Given the description of an element on the screen output the (x, y) to click on. 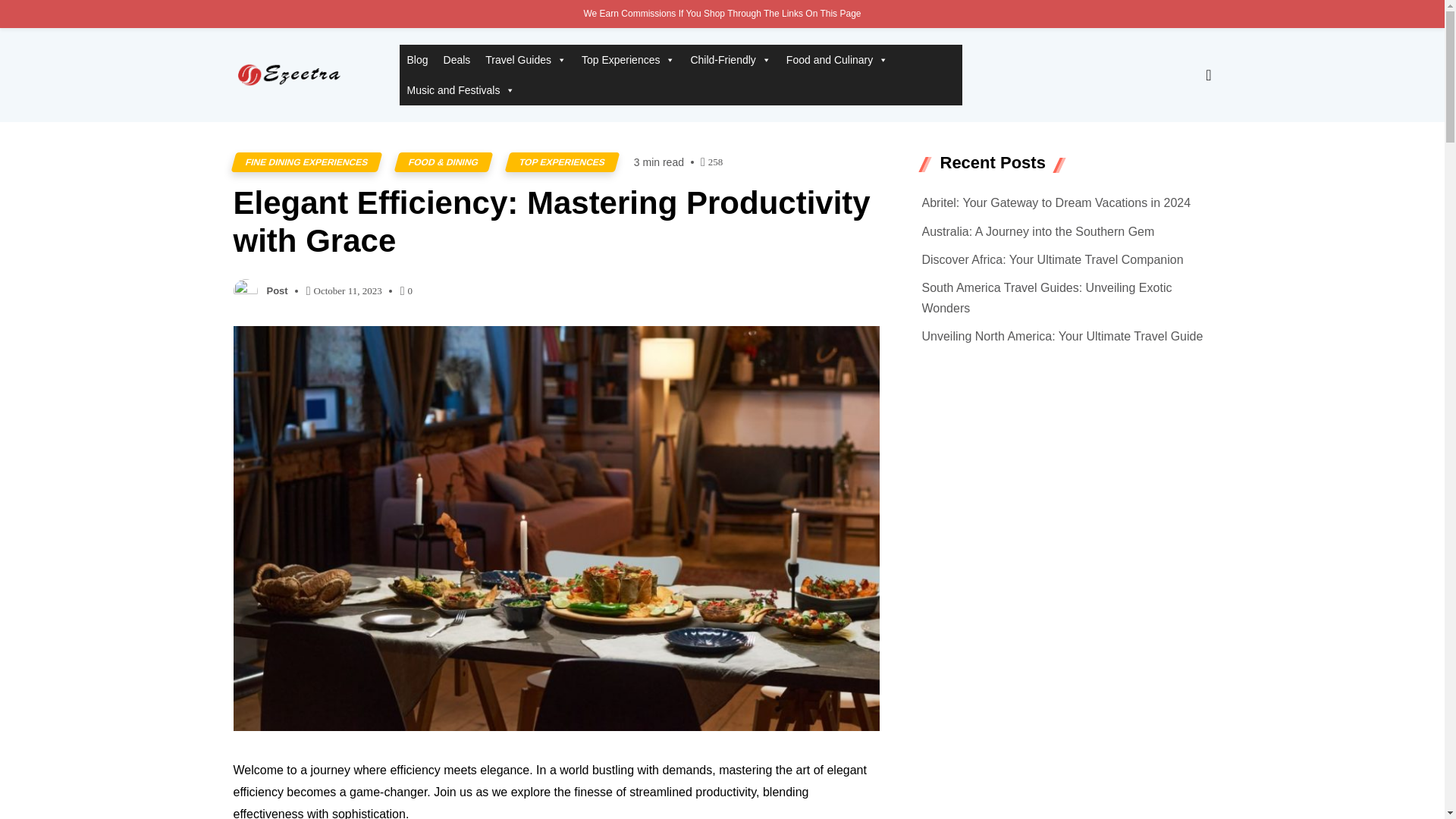
Music and Festivals (460, 90)
Top Experiences (627, 60)
Child-Friendly (729, 60)
FINE DINING EXPERIENCES (303, 161)
TOP EXPERIENCES (558, 161)
Elegant Efficiency: Mastering Productivity with Grace (555, 222)
Deals (457, 60)
Food and Culinary (836, 60)
Travel Guides (525, 60)
Post (277, 291)
Blog (416, 60)
